Given the description of an element on the screen output the (x, y) to click on. 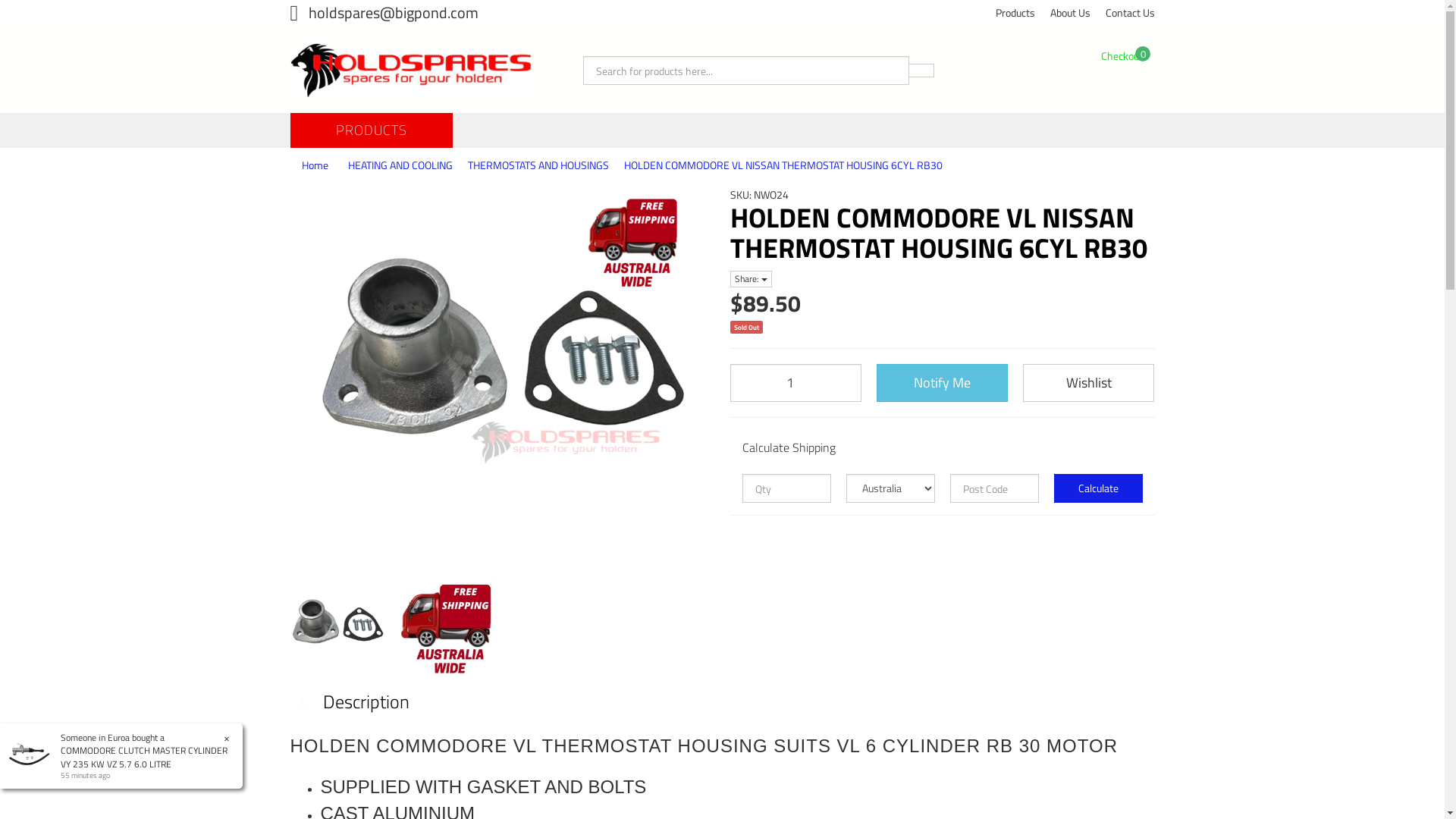
0
Checkout Element type: text (1121, 55)
Search Element type: text (921, 70)
PRODUCTS Element type: text (370, 129)
Wishlist Element type: text (1088, 382)
holdspares@bigpond.com Element type: text (383, 12)
Account Element type: text (1057, 55)
Large View Element type: hover (447, 628)
Share: Element type: text (750, 278)
Calculate Element type: text (1098, 487)
About Us Element type: text (1069, 12)
THERMOSTATS AND HOUSINGS Element type: text (537, 164)
Home Element type: text (314, 164)
Products Element type: text (1014, 12)
Contact Us Element type: text (1129, 12)
Notify Me Element type: text (941, 382)
COMMODORE CLUTCH MASTER CYLINDER VY 235 KW VZ 5.7 6.0 LITRE Element type: text (143, 756)
Large View Element type: hover (336, 628)
HEATING AND COOLING Element type: text (398, 164)
HOLDEN COMMODORE VL NISSAN THERMOSTAT HOUSING 6CYL RB30 Element type: text (783, 164)
